Given the description of an element on the screen output the (x, y) to click on. 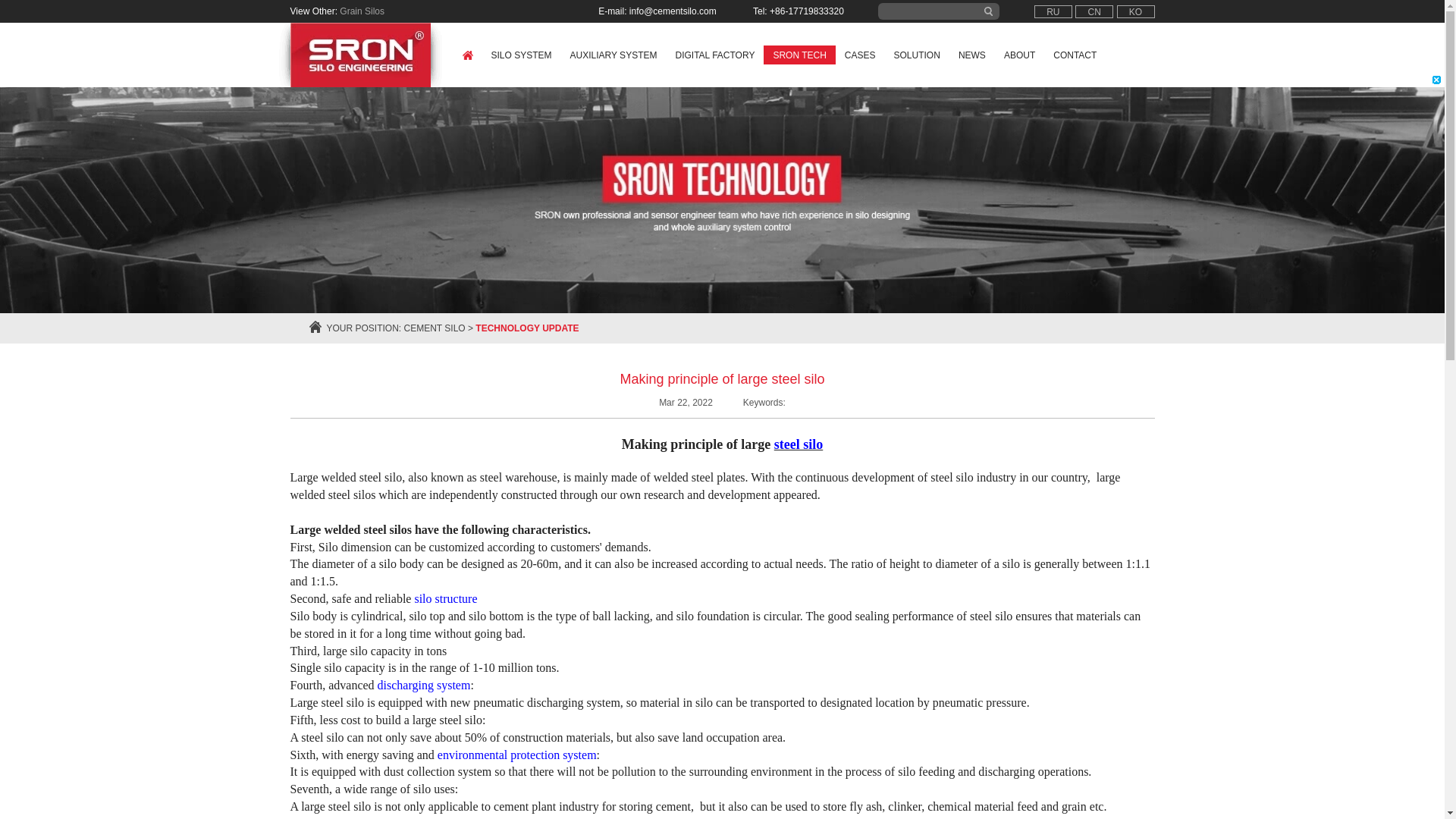
KO (1135, 11)
CN (1094, 11)
AUXILIARY SYSTEM (613, 54)
Grain Silos (361, 10)
RU (1052, 11)
DIGITAL FACTORY (713, 54)
SILO SYSTEM (520, 54)
